Given the description of an element on the screen output the (x, y) to click on. 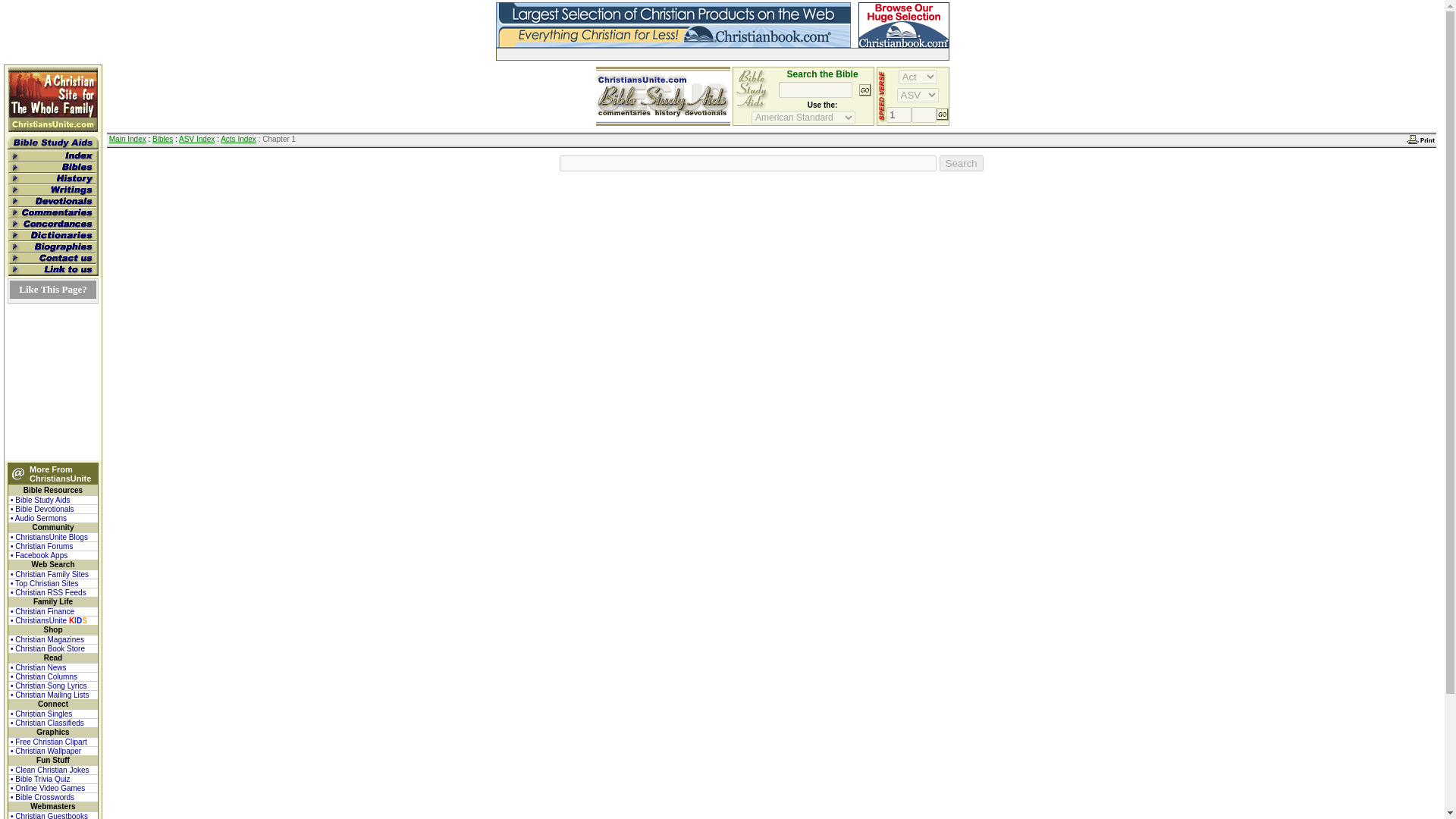
1 (898, 114)
Search (961, 163)
Bibles (162, 139)
Main Index (128, 139)
Advertisement (673, 53)
Acts Index (238, 139)
ASV Index (196, 139)
Search (961, 163)
